Given the description of an element on the screen output the (x, y) to click on. 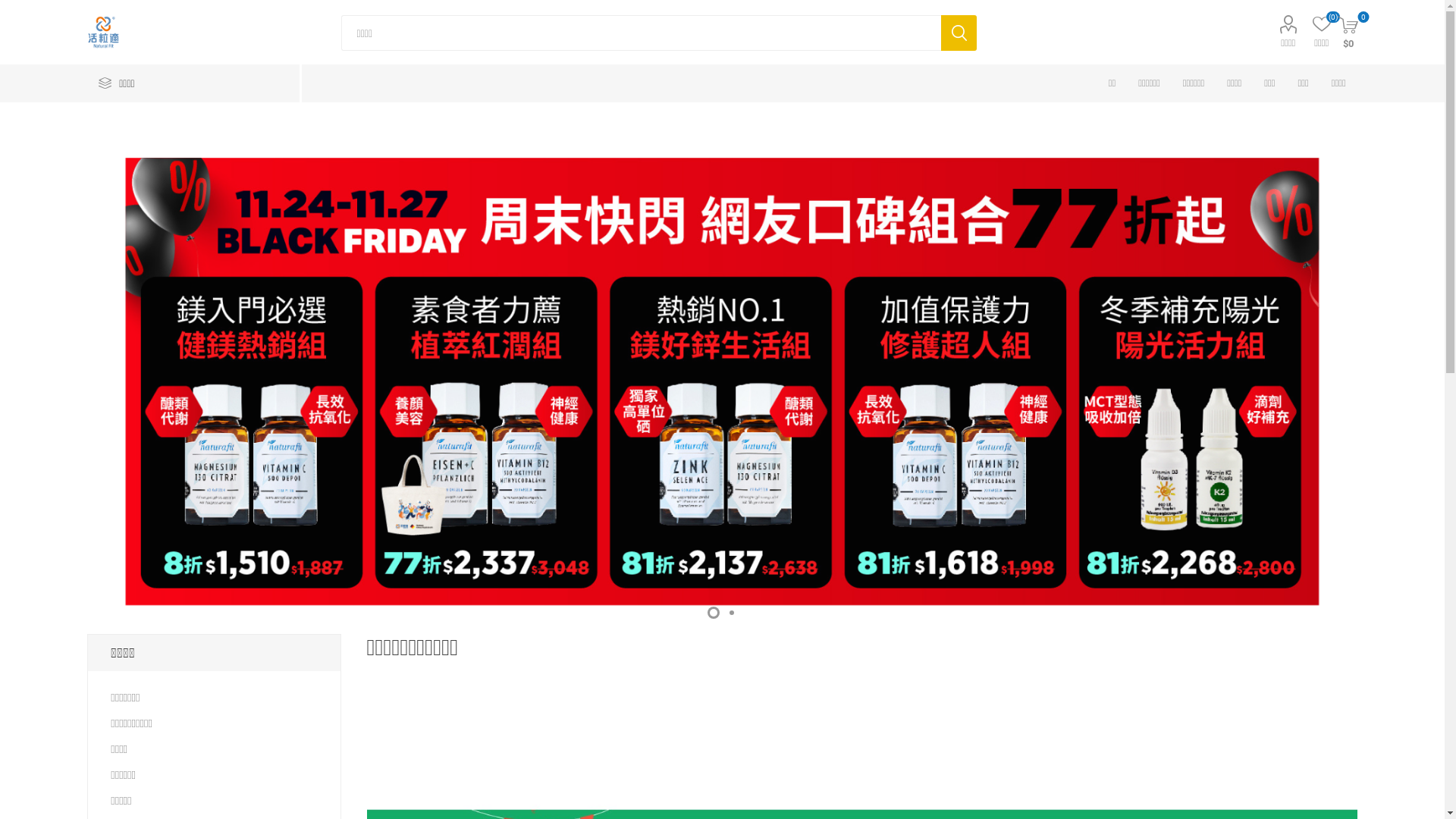
0
$0 Element type: text (1348, 32)
2 Element type: text (730, 612)
1 Element type: text (712, 612)
